Given the description of an element on the screen output the (x, y) to click on. 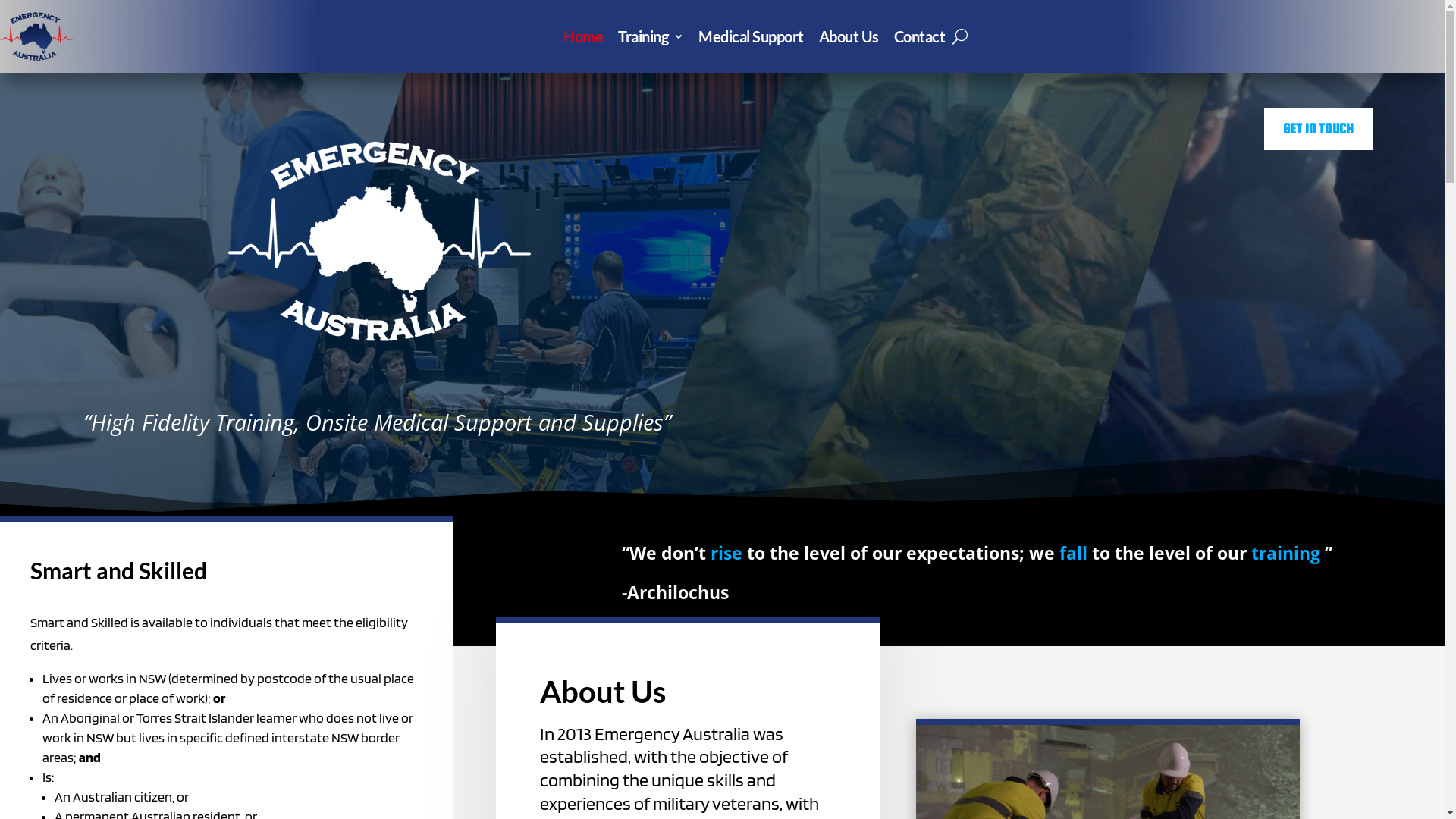
EA_White_Logo Element type: hover (379, 241)
Contact Element type: text (919, 36)
Home Element type: text (582, 36)
GET IN TOUCH Element type: text (1318, 128)
Training Element type: text (650, 36)
Medical Support Element type: text (750, 36)
About Us Element type: text (848, 36)
